Given the description of an element on the screen output the (x, y) to click on. 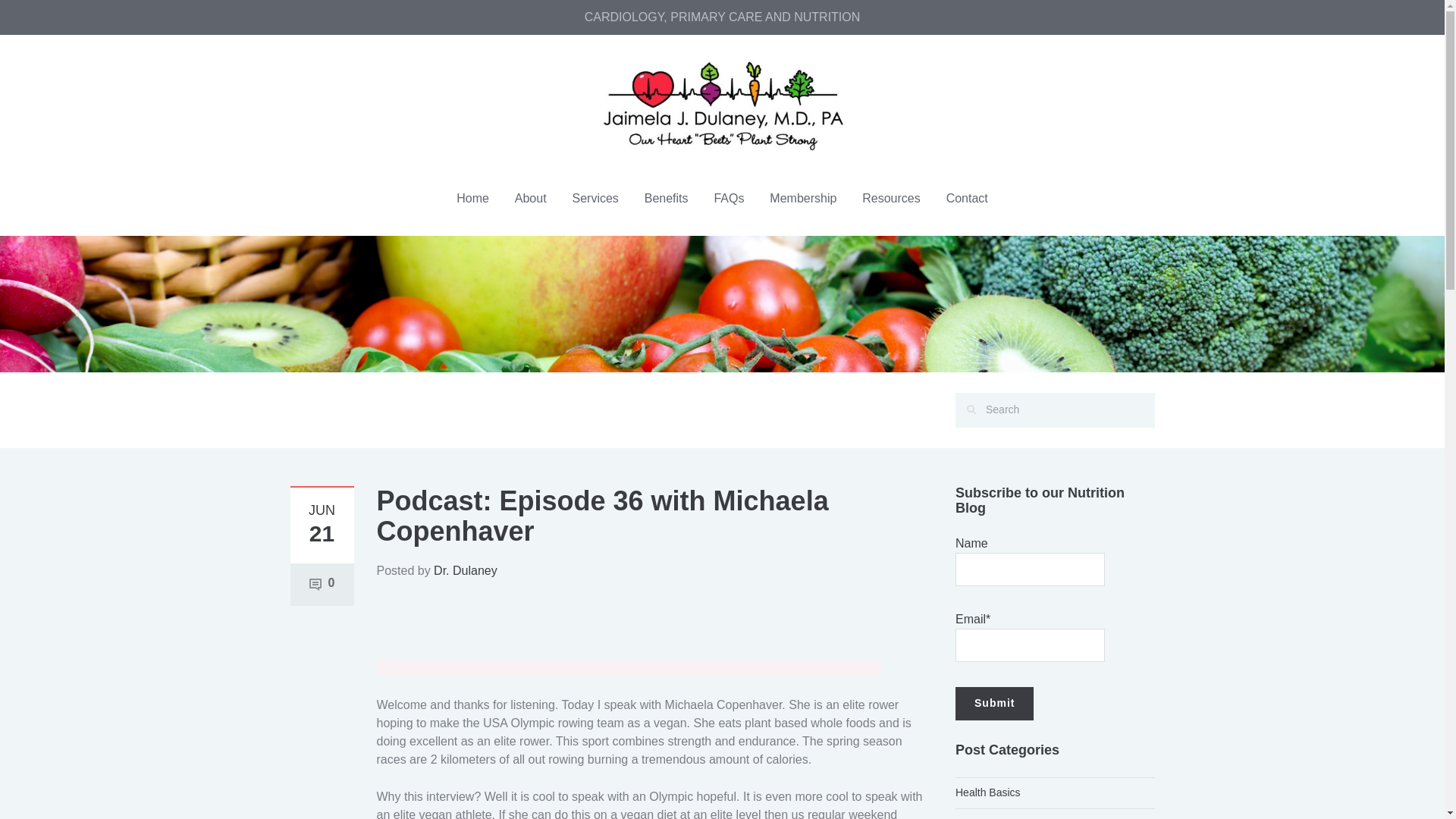
Submit (994, 703)
Home (472, 197)
About (530, 197)
Submit (994, 703)
View all posts by Dr. Dulaney (465, 570)
Dr. Dulaney (465, 570)
0 (321, 583)
Services (594, 197)
Membership (802, 197)
FAQs (728, 197)
Benefits (666, 197)
Contact (966, 197)
Health Basics (987, 792)
Resources (890, 197)
